Given the description of an element on the screen output the (x, y) to click on. 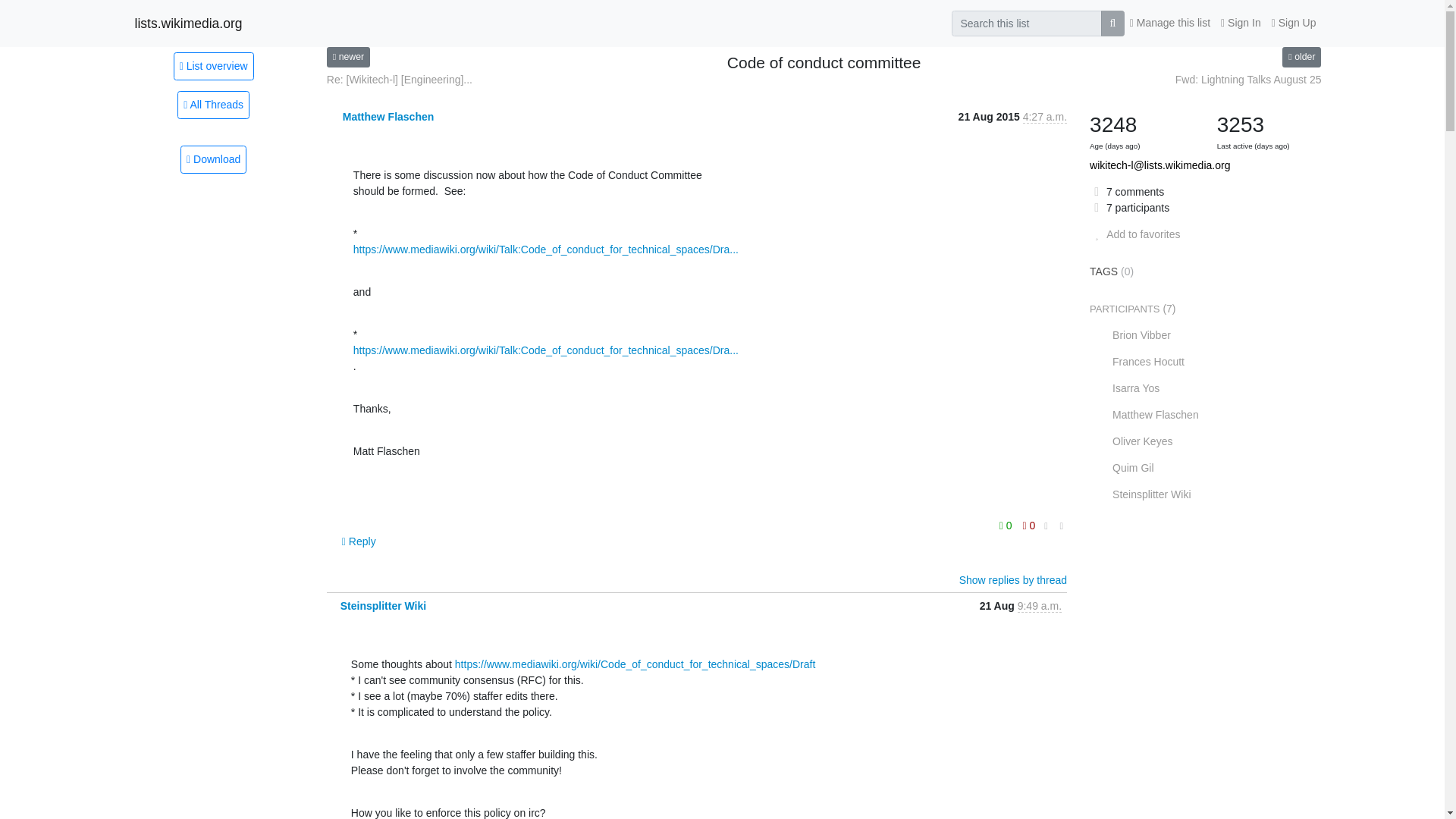
This thread in gzipped mbox format (213, 159)
See the profile for Steinsplitter Wiki (383, 605)
Sender's time: Aug. 21, 2015, 11:49 a.m. (1039, 605)
Download (213, 159)
Sign in to reply online (359, 541)
Manage this list (1169, 22)
You must be logged-in to vote. (1007, 525)
lists.wikimedia.org (189, 22)
List overview (213, 65)
All Threads (212, 104)
You must be logged-in to vote. (1029, 525)
Fwd: Lightning Talks August 25 (1248, 79)
Sign In (1240, 22)
Sign Up (1294, 22)
newer (347, 56)
